Given the description of an element on the screen output the (x, y) to click on. 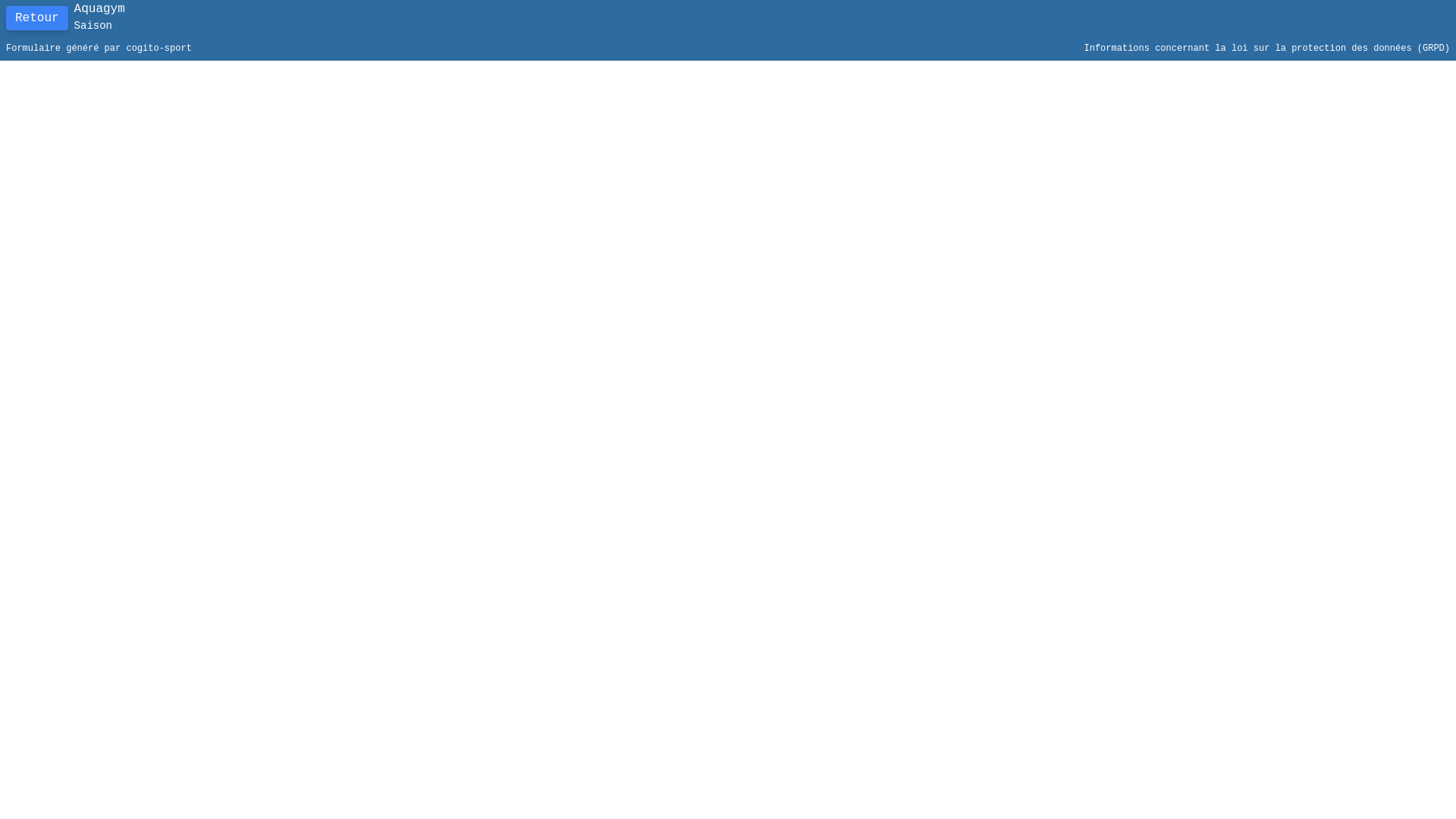
Retour Element type: text (37, 18)
cogito-sport Element type: text (158, 48)
